Given the description of an element on the screen output the (x, y) to click on. 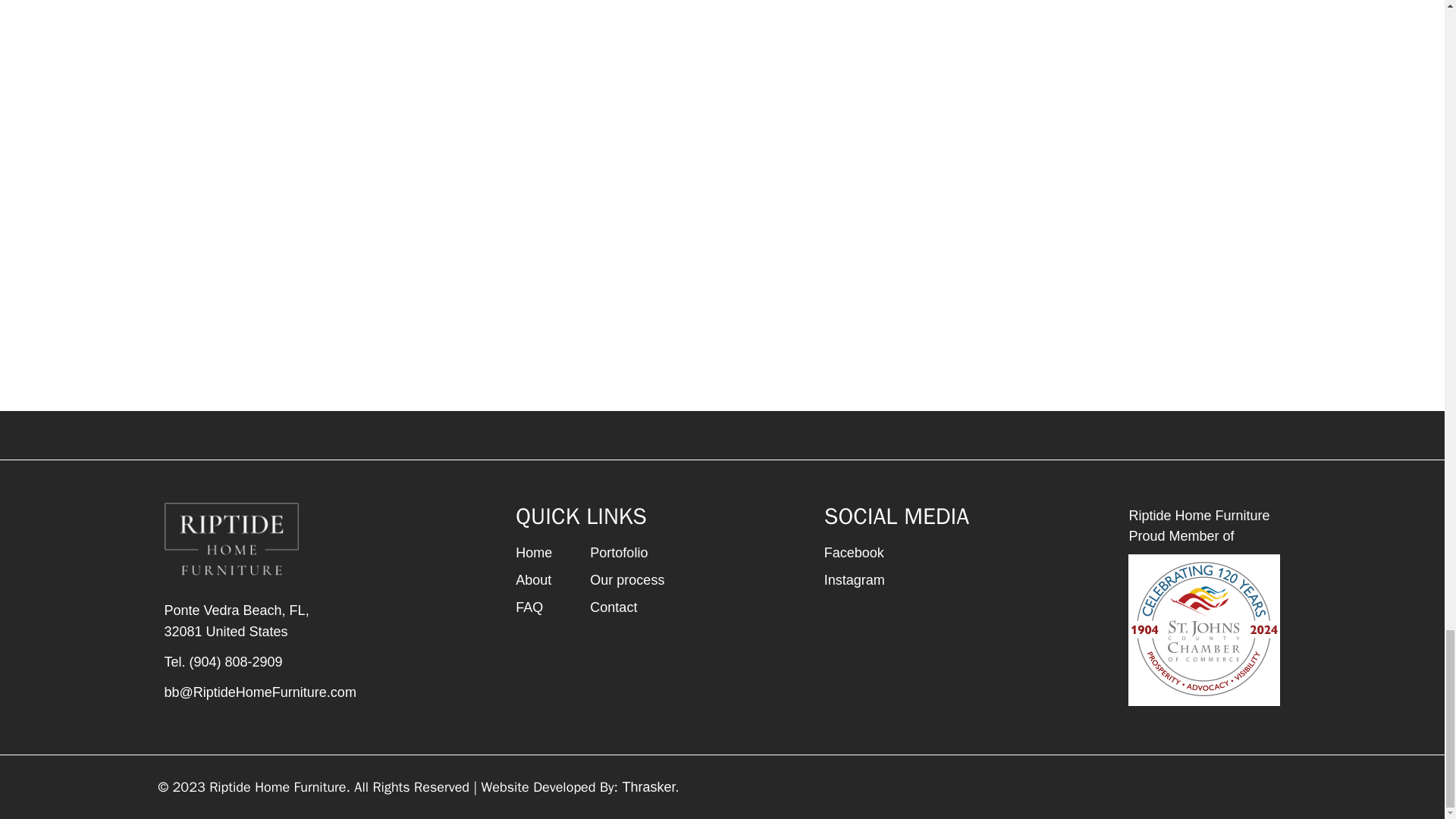
About (533, 580)
Our process (626, 580)
Home (259, 620)
St. Johns County Chamber of Commerce (533, 552)
Thrasker. (1203, 629)
Portofolio (649, 786)
Instagram (618, 552)
Contact (854, 580)
FAQ (613, 607)
Facebook (529, 607)
